Given the description of an element on the screen output the (x, y) to click on. 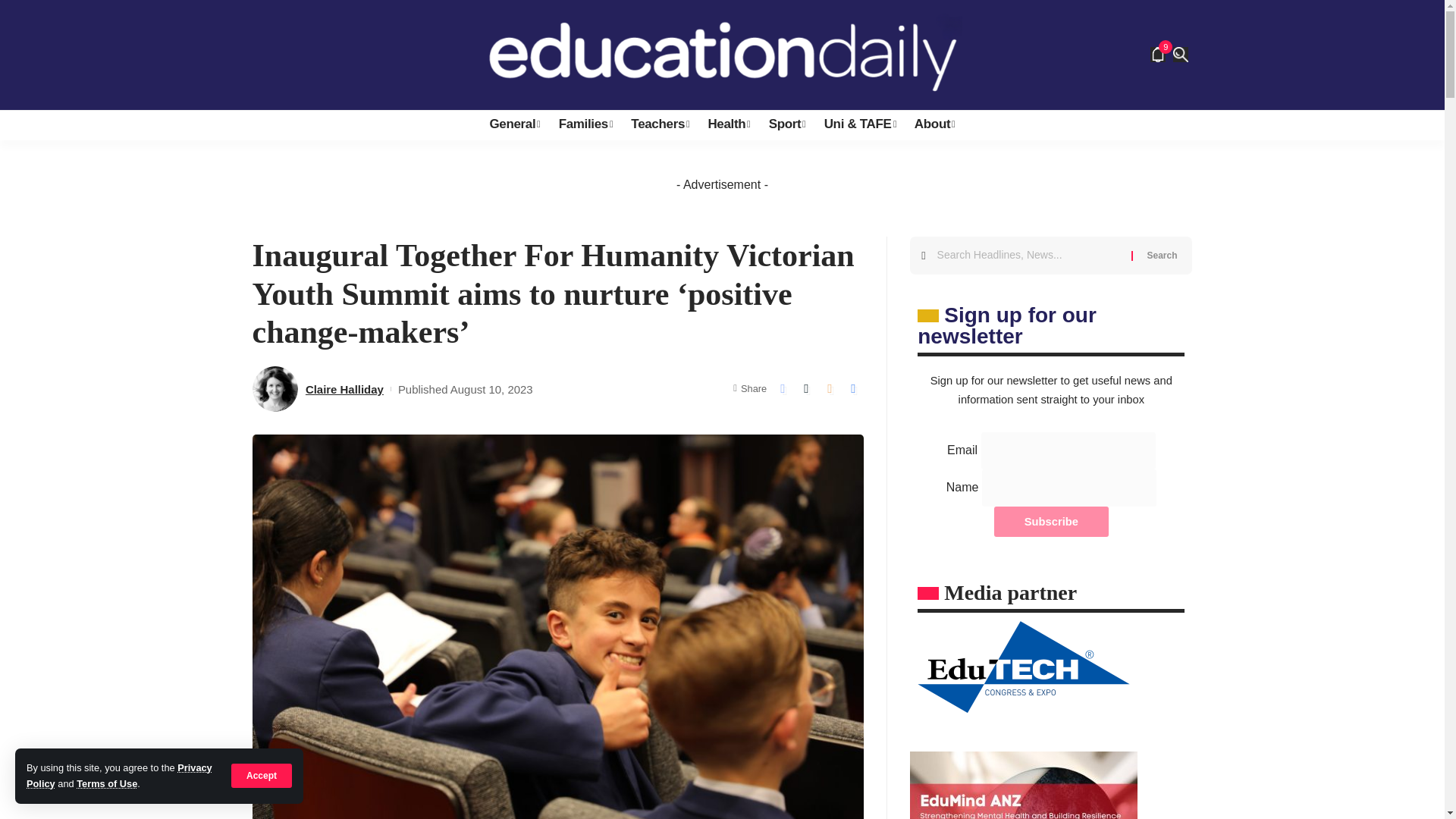
General (514, 124)
Terms of Use (106, 783)
Subscribe (1051, 521)
EducationDaily (721, 54)
Privacy Policy (119, 775)
Search (1161, 255)
Accept (261, 775)
9 (1158, 54)
